Given the description of an element on the screen output the (x, y) to click on. 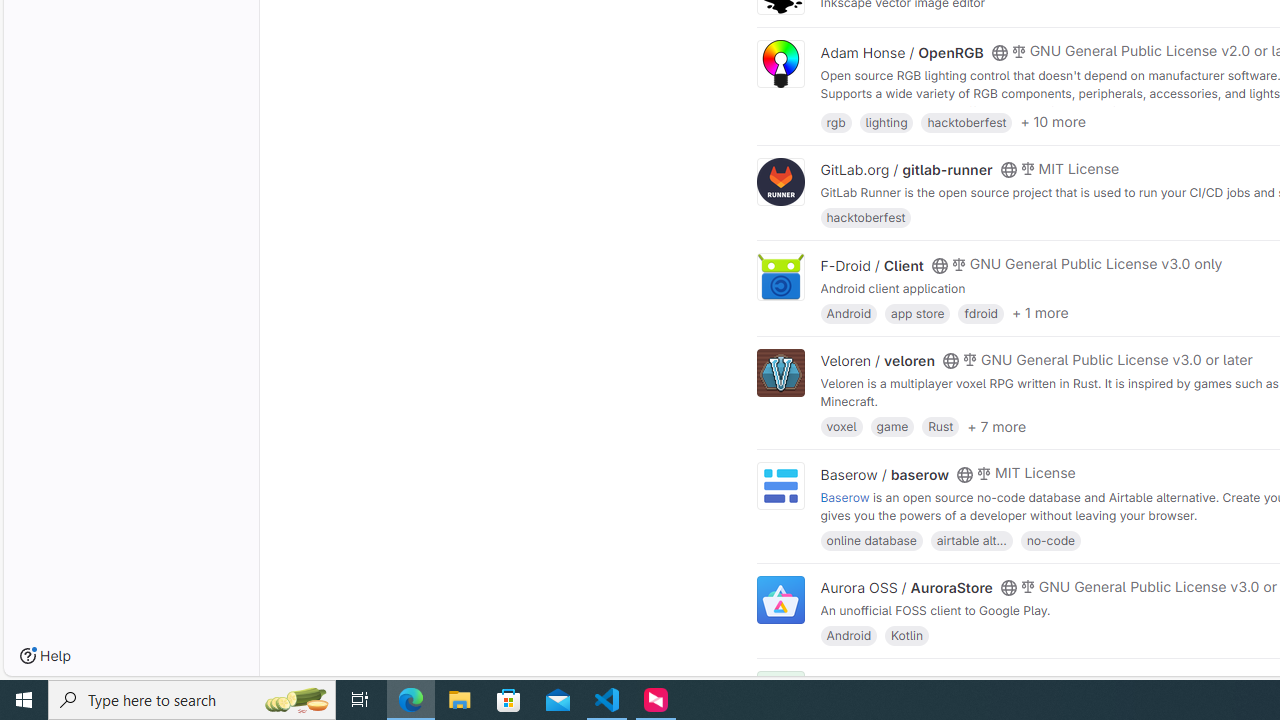
GitLab.org / gitlab-runner (906, 170)
+ 1 more (1039, 313)
Class: project (780, 599)
online database (871, 539)
Baserow (845, 496)
F-Droid / Client (872, 265)
fdroid (980, 312)
no-code (1050, 539)
Veloren / veloren (877, 361)
game (892, 426)
Class: s16 (999, 683)
